Given the description of an element on the screen output the (x, y) to click on. 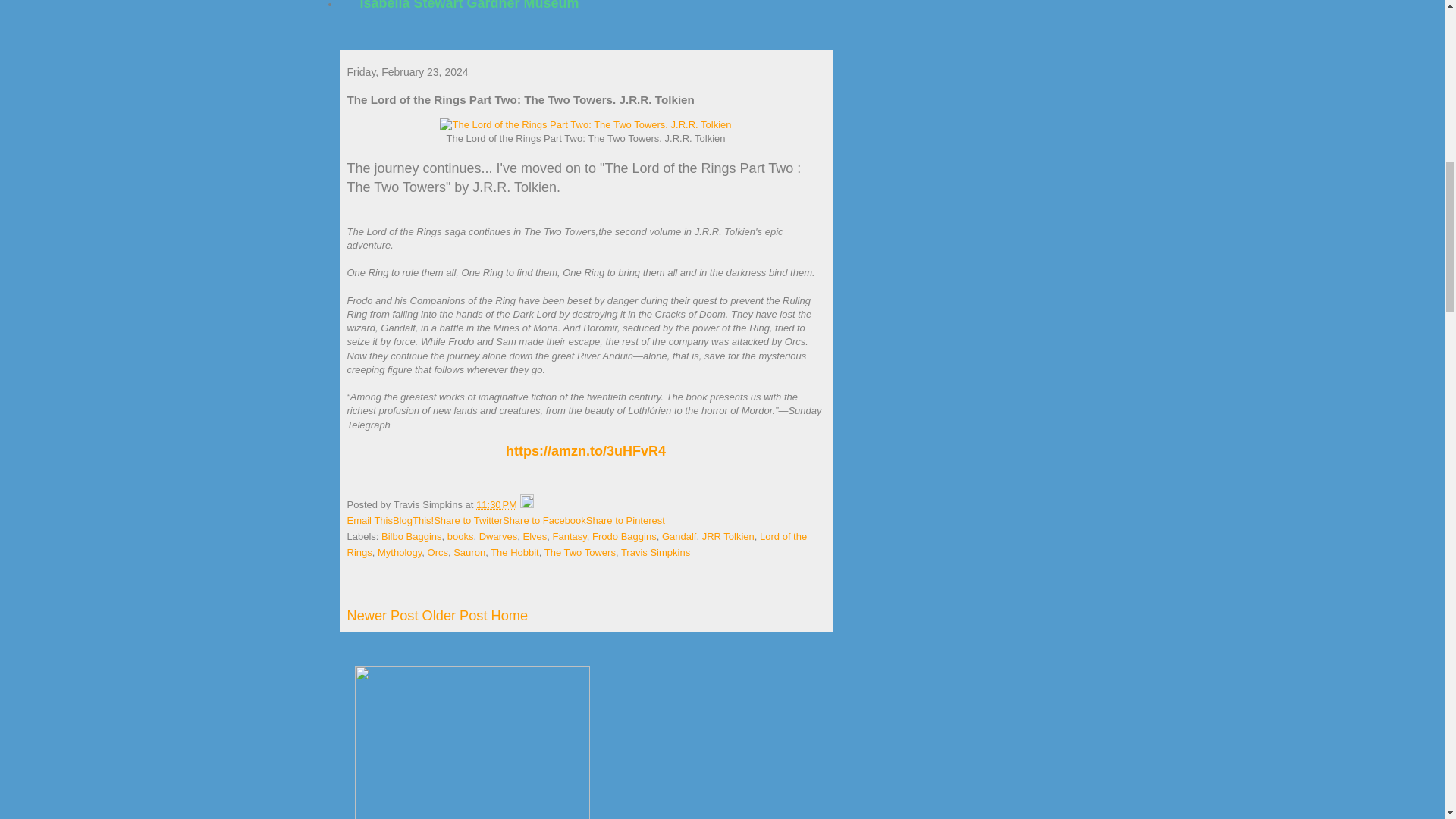
Elves (534, 536)
Email This (370, 520)
Share to Twitter (467, 520)
Share to Facebook (544, 520)
Older Post (454, 615)
Travis Simpkins (655, 551)
Share to Twitter (467, 520)
Edit Post (526, 504)
Bilbo Baggins (411, 536)
permanent link (496, 504)
